Given the description of an element on the screen output the (x, y) to click on. 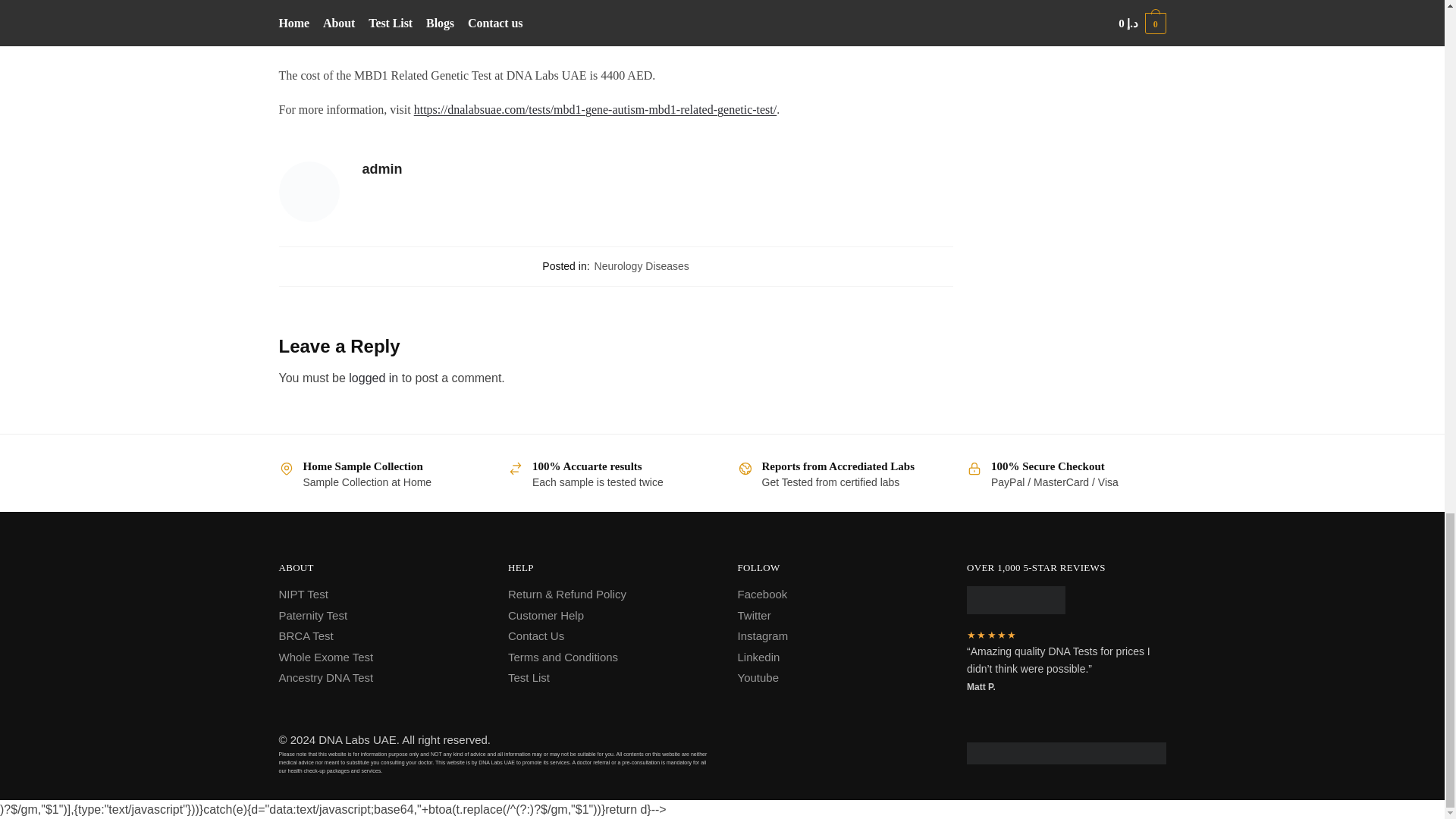
Neurology Diseases (641, 265)
logged in (373, 377)
admin (657, 169)
